Given the description of an element on the screen output the (x, y) to click on. 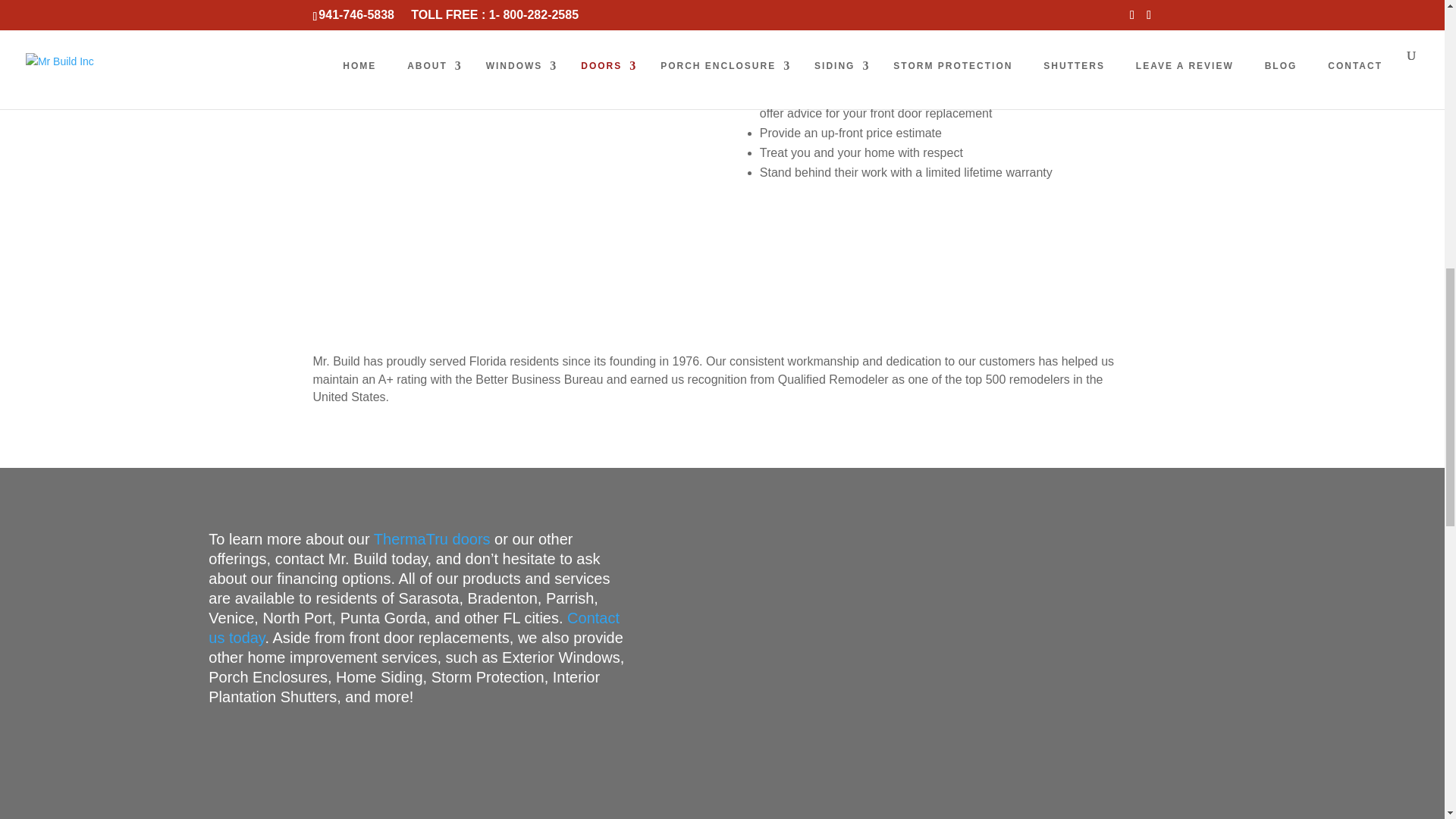
ThermaTru doors (432, 538)
Contact us today (414, 627)
